Given the description of an element on the screen output the (x, y) to click on. 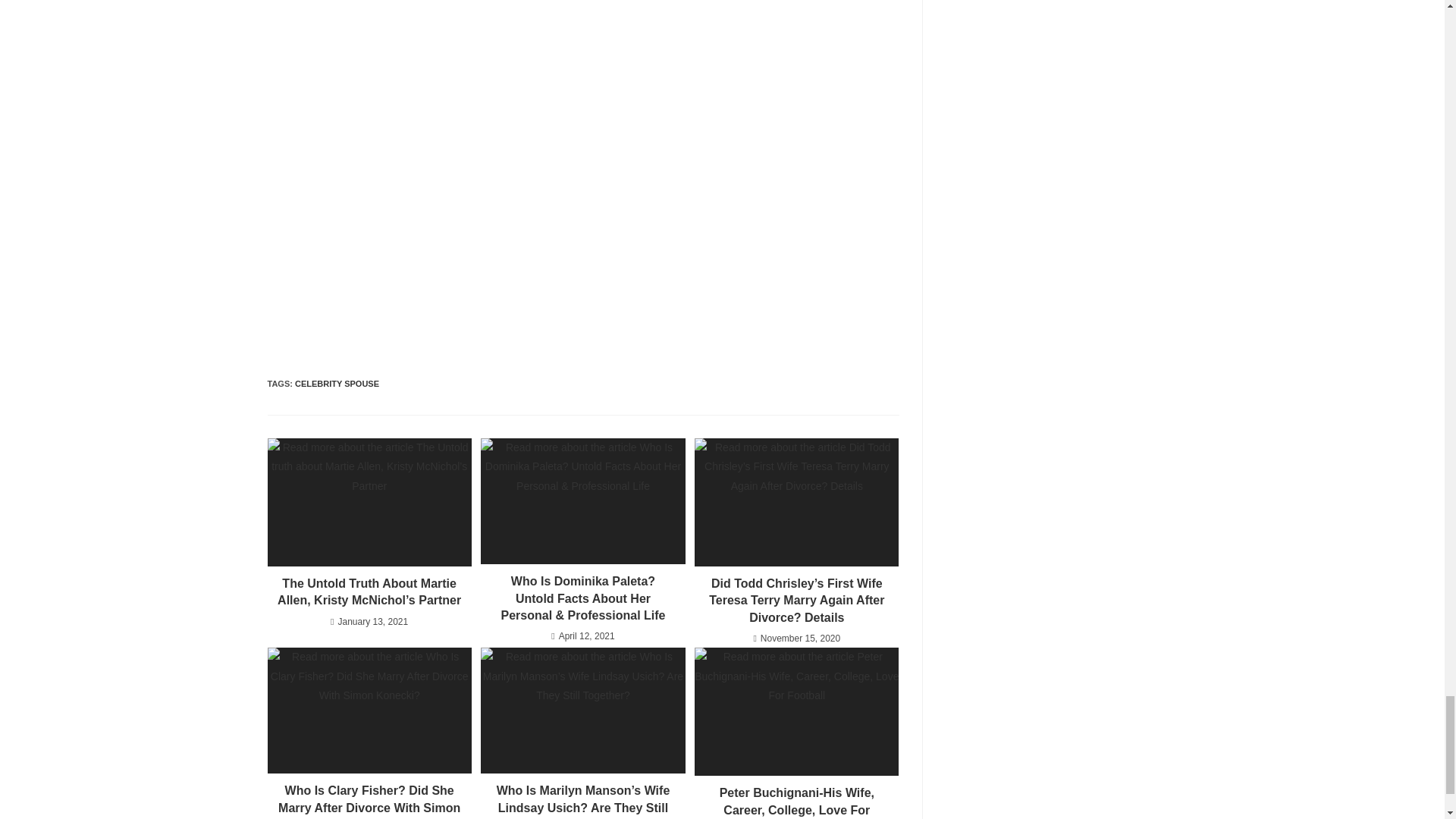
CELEBRITY SPOUSE (336, 383)
